Given the description of an element on the screen output the (x, y) to click on. 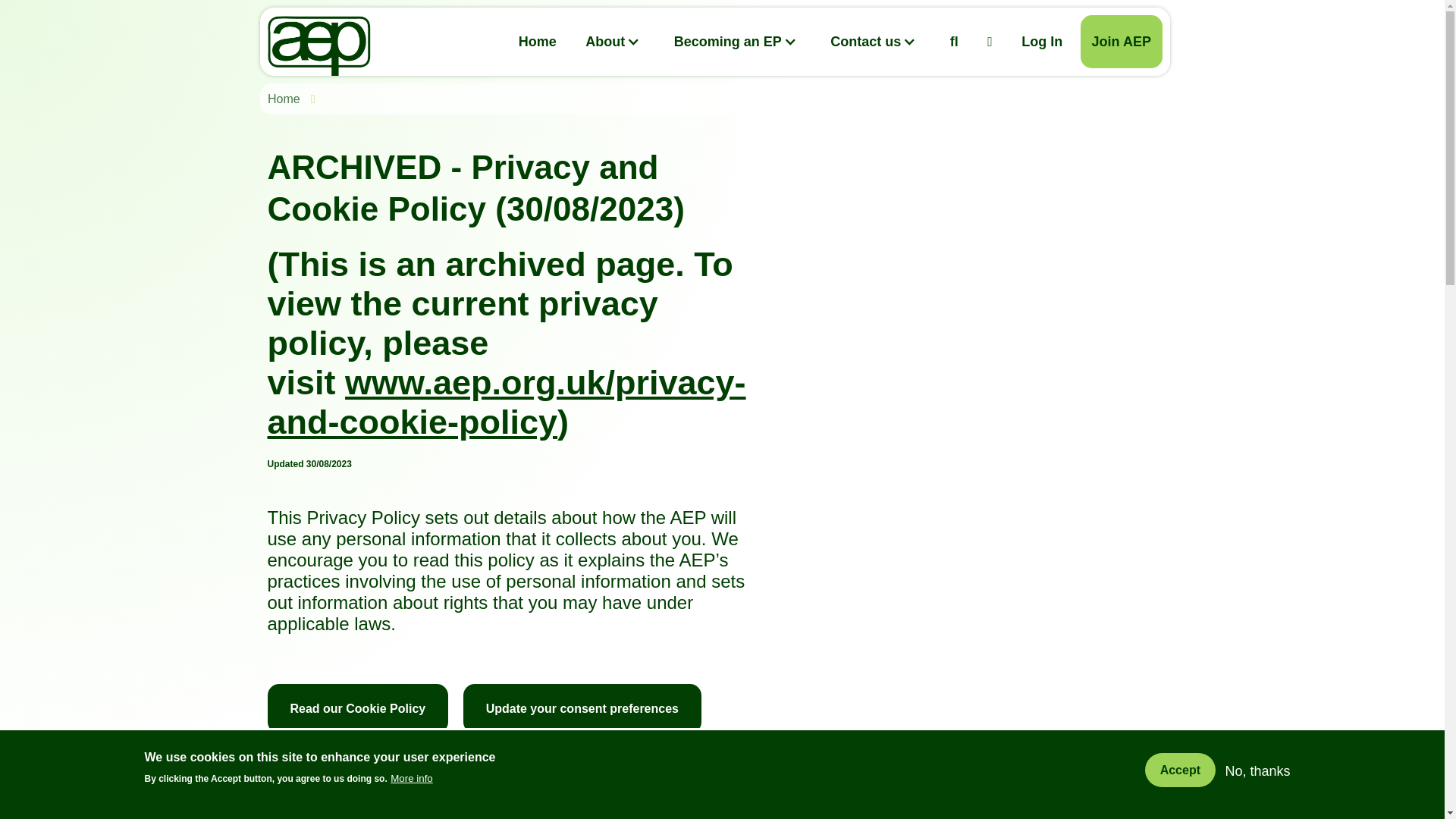
Update your consent preferences (582, 708)
Home (536, 41)
Home (285, 98)
Read our Cookie Policy (357, 708)
Log In (1042, 41)
Join AEP (1120, 41)
